Given the description of an element on the screen output the (x, y) to click on. 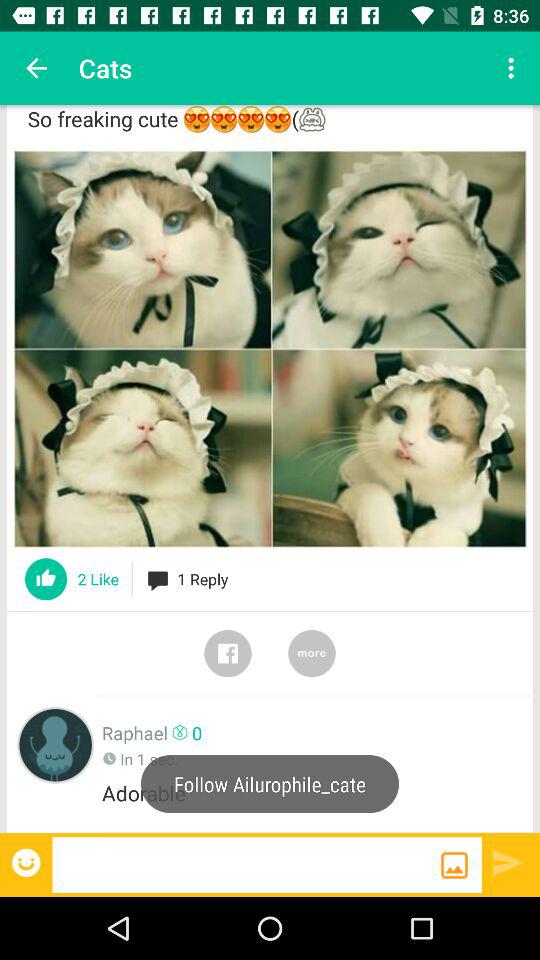
cartoon character (55, 744)
